Given the description of an element on the screen output the (x, y) to click on. 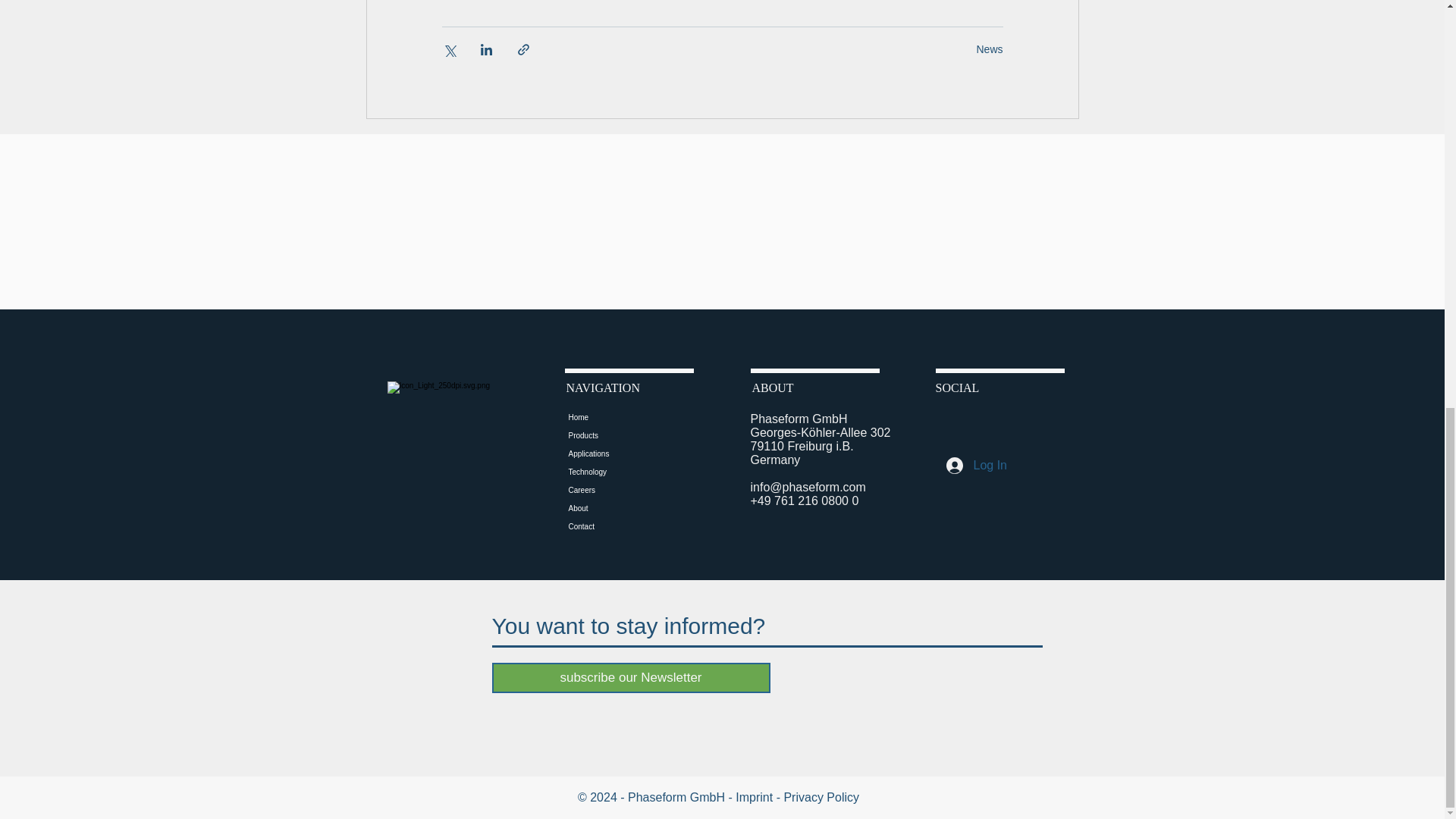
Products (607, 435)
Careers (607, 490)
Applications (607, 454)
About (607, 508)
Contact (607, 526)
Home (607, 417)
News (989, 49)
Technology (607, 472)
